Given the description of an element on the screen output the (x, y) to click on. 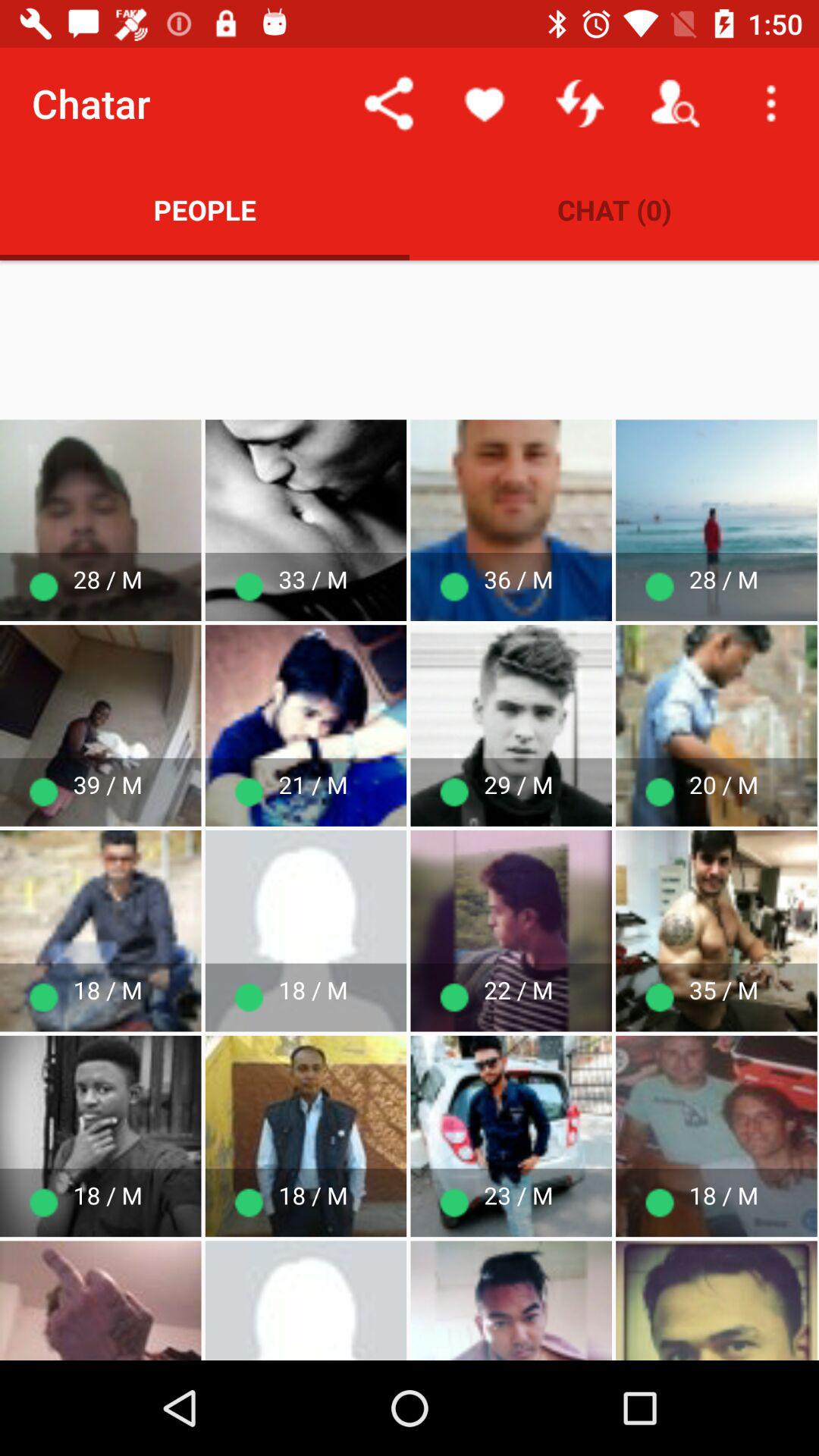
select the icon to the left of the chat (0) item (204, 209)
